Given the description of an element on the screen output the (x, y) to click on. 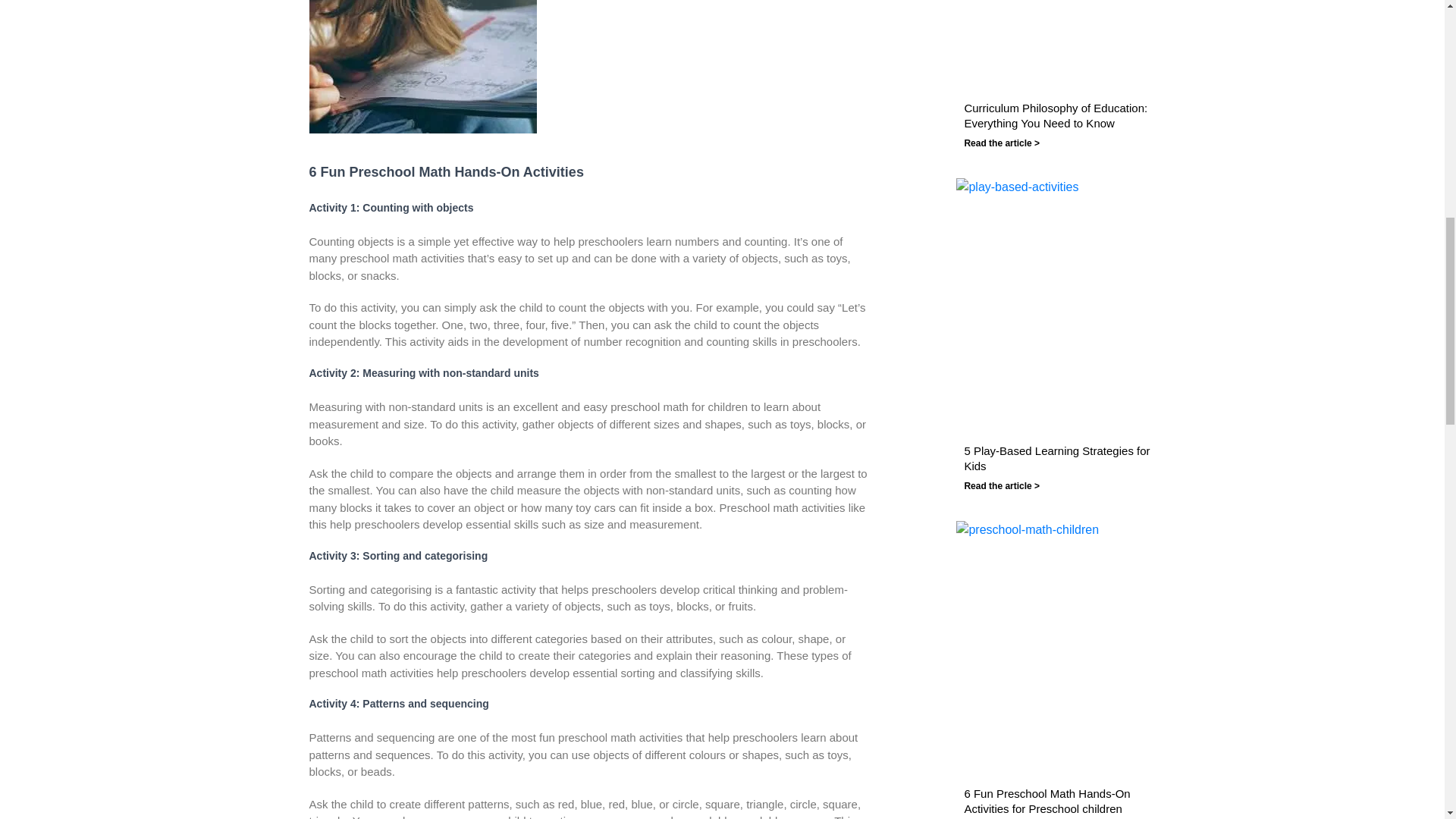
5 Play-Based Learning Strategies for Kids (1066, 458)
